Given the description of an element on the screen output the (x, y) to click on. 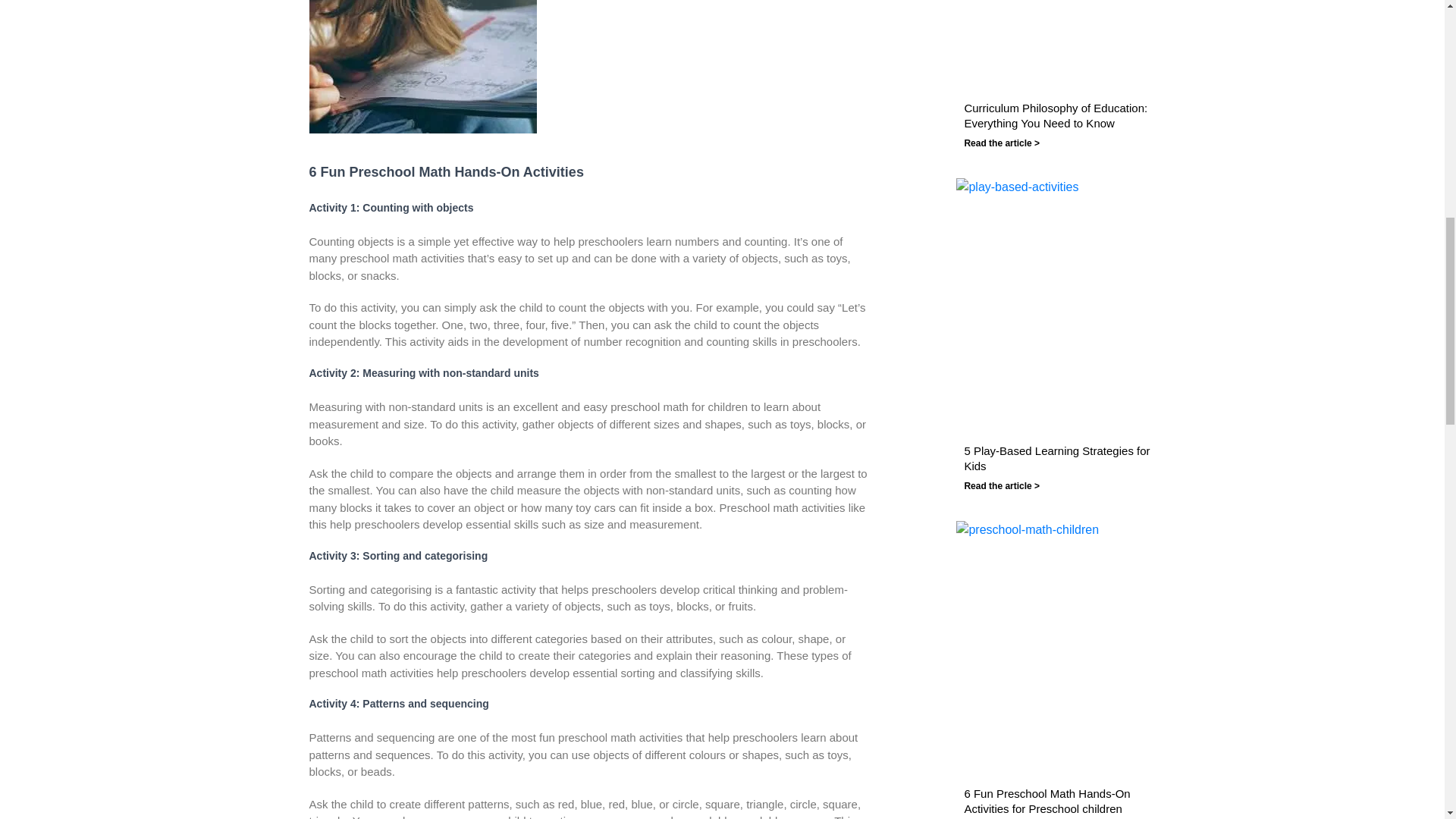
5 Play-Based Learning Strategies for Kids (1066, 458)
